Given the description of an element on the screen output the (x, y) to click on. 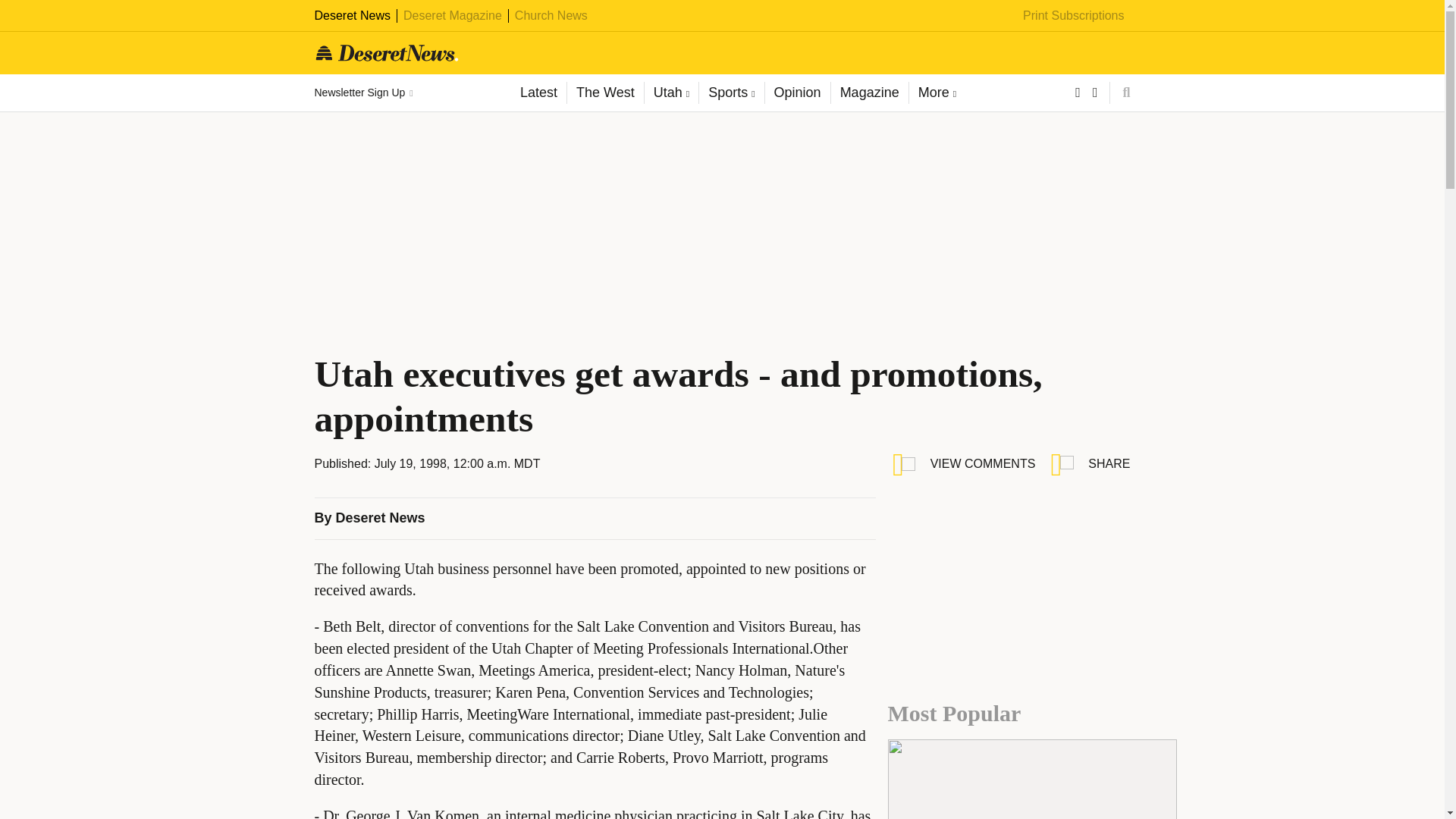
Utah (670, 92)
Deseret News (352, 15)
Newsletter Sign Up (363, 92)
Deseret Magazine (452, 15)
Sports (730, 92)
Print Subscriptions (1073, 15)
Church News (551, 15)
Latest (538, 92)
Magazine (868, 92)
The West (604, 92)
